Given the description of an element on the screen output the (x, y) to click on. 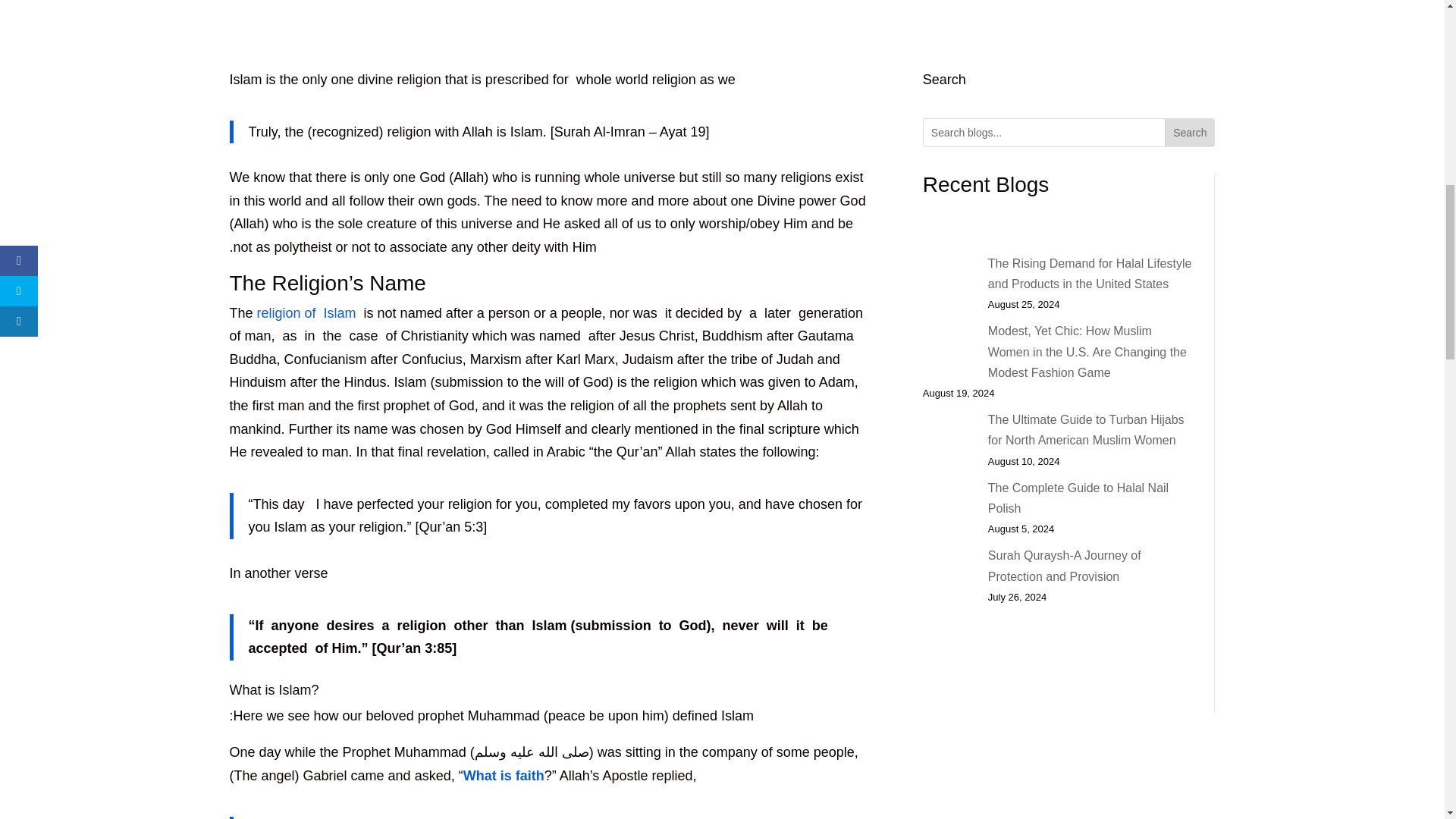
Search (1189, 132)
religion of  Islam (306, 313)
What is faith (503, 775)
Search (1189, 132)
Search (1189, 132)
